Given the description of an element on the screen output the (x, y) to click on. 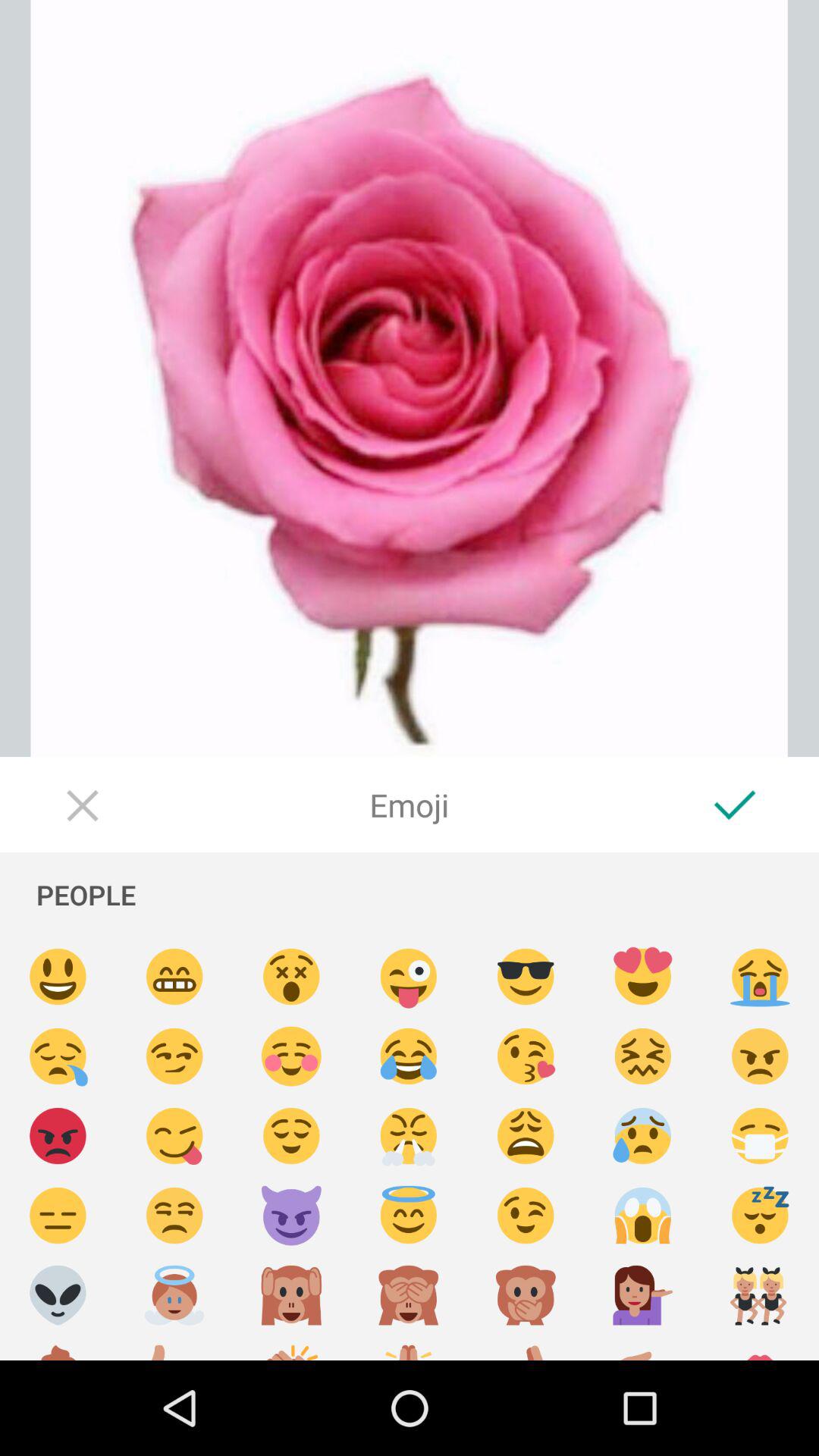
use the kissing emoji (525, 1056)
